Given the description of an element on the screen output the (x, y) to click on. 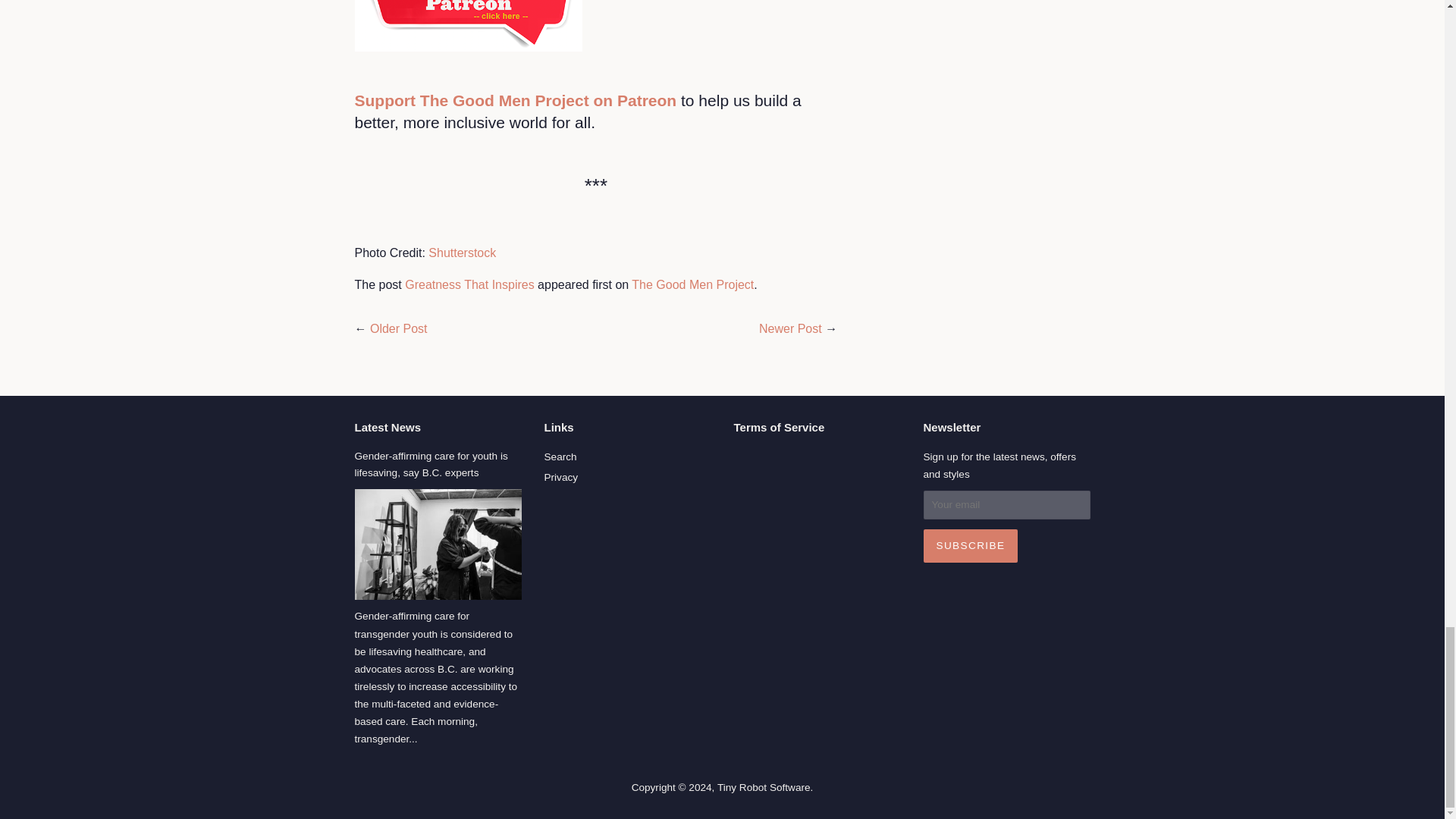
Privacy (561, 477)
Subscribe (970, 545)
The Good Men Project (692, 284)
Latest News (388, 427)
Greatness That Inspires (469, 284)
Shutterstock (462, 252)
Tiny Robot Software (763, 787)
Older Post (398, 328)
Newer Post (790, 328)
Search (560, 456)
Subscribe (970, 545)
Support The Good Men Project on Patreon (516, 99)
